Given the description of an element on the screen output the (x, y) to click on. 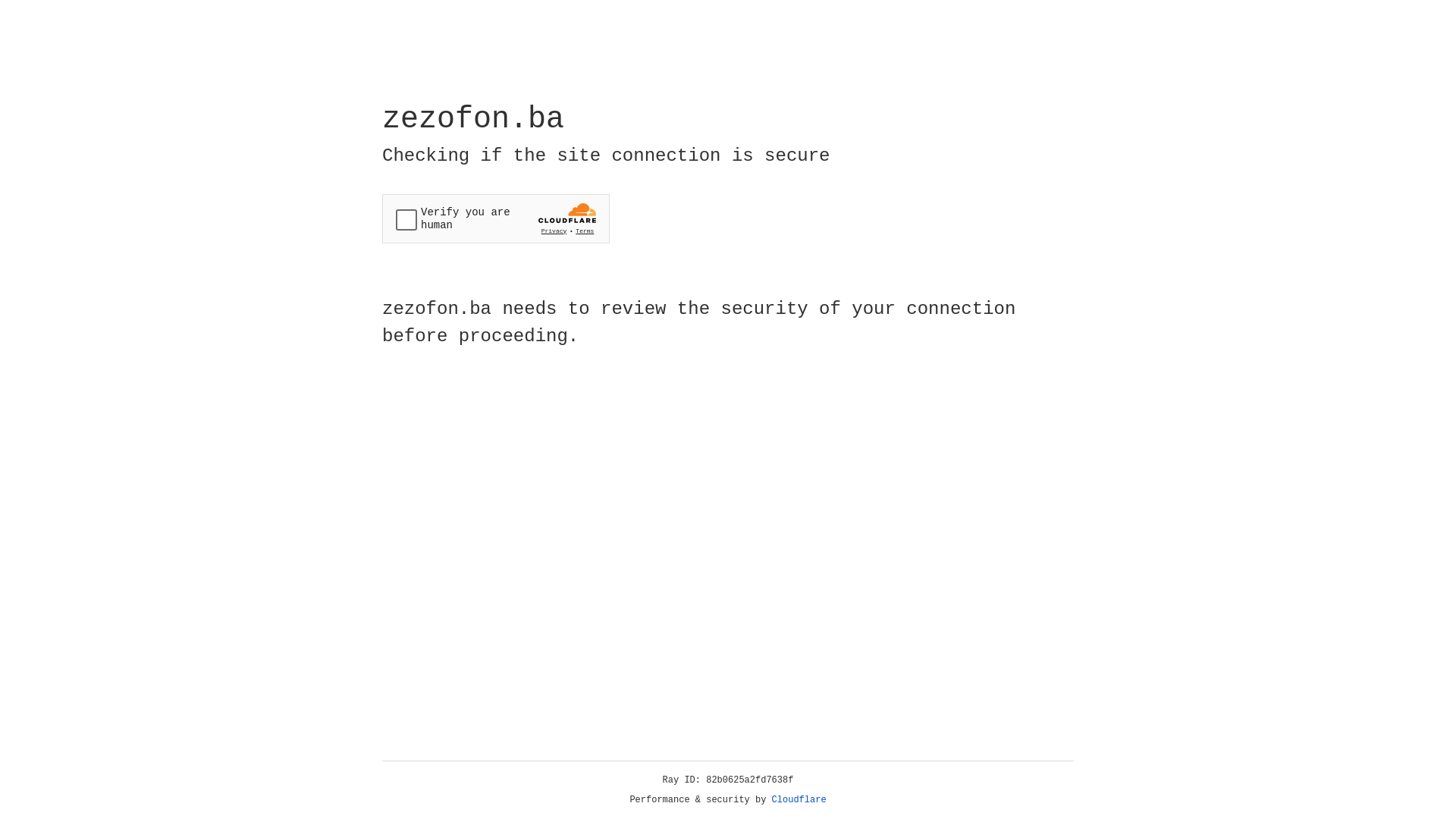
Widget containing a Cloudflare security challenge Element type: hover (495, 218)
Cloudflare Element type: text (798, 799)
